Given the description of an element on the screen output the (x, y) to click on. 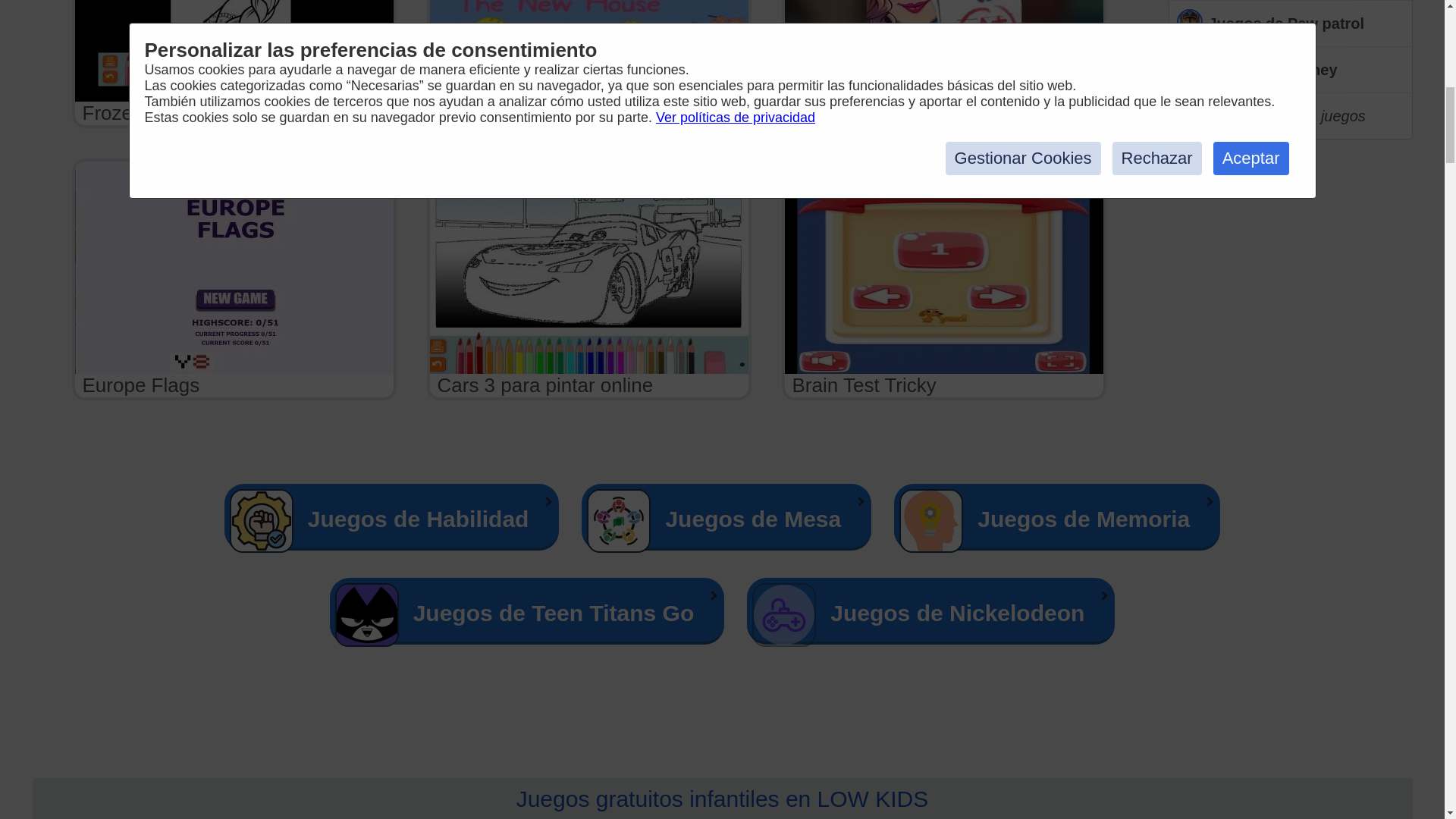
Frozen: Colorear a Elsa (233, 63)
Juegos de Nickelodeon (930, 611)
Juegos de Memoria (1056, 517)
Juegos infantiles de Paw patrol gratis (1290, 23)
Juegos de Habilidad (391, 517)
Cars 3 para pintar online (588, 279)
Juegos infantiles de Disney gratis (1290, 69)
Juegos de Mesa (725, 517)
Peppa Pig The New House (588, 63)
Juegos de Paw patrol (1290, 23)
Europe Flags (233, 279)
Brain Test Tricky (942, 279)
Juegos de Disney (1290, 69)
